Given the description of an element on the screen output the (x, y) to click on. 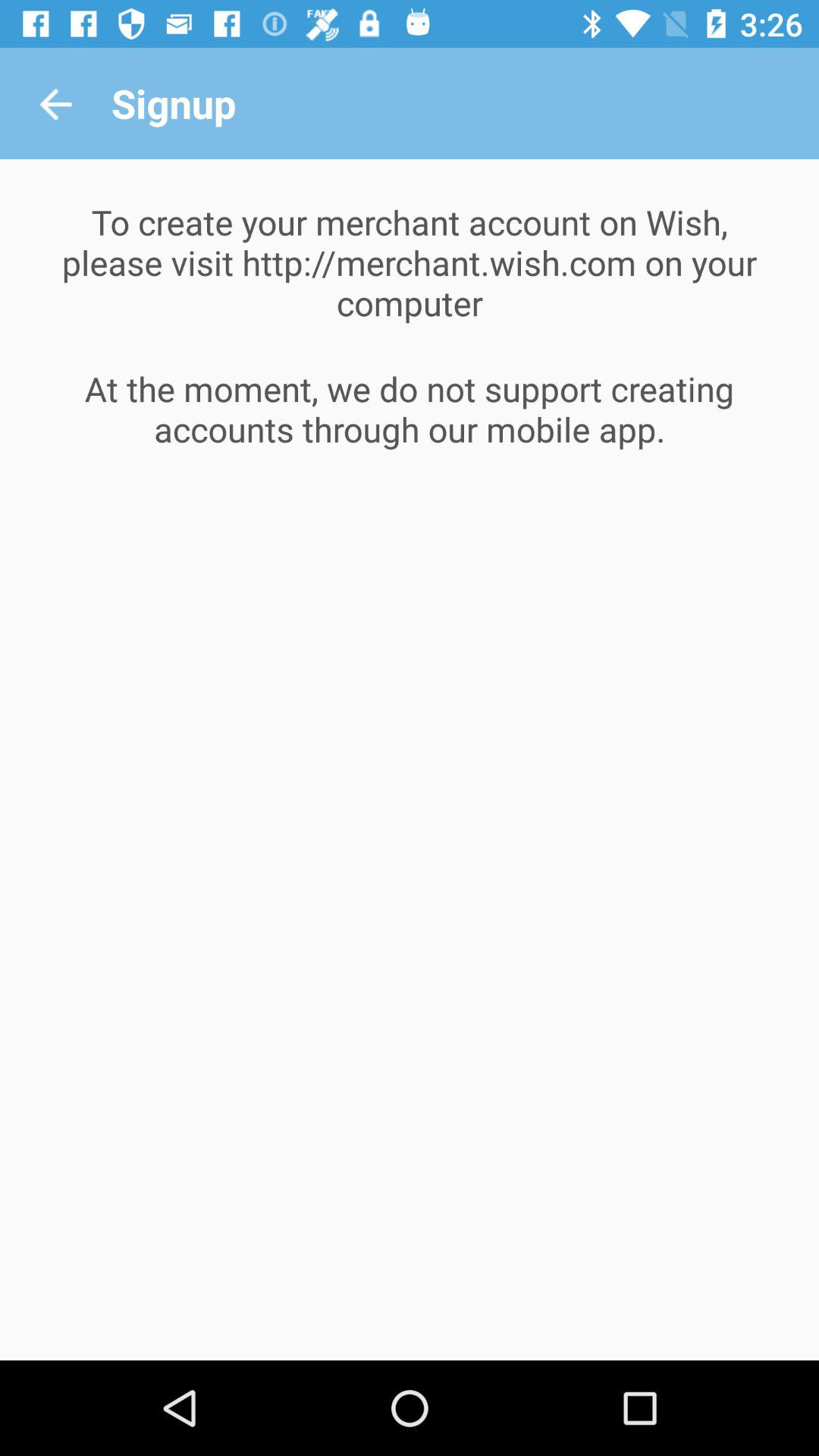
tap the icon next to the signup item (55, 103)
